Given the description of an element on the screen output the (x, y) to click on. 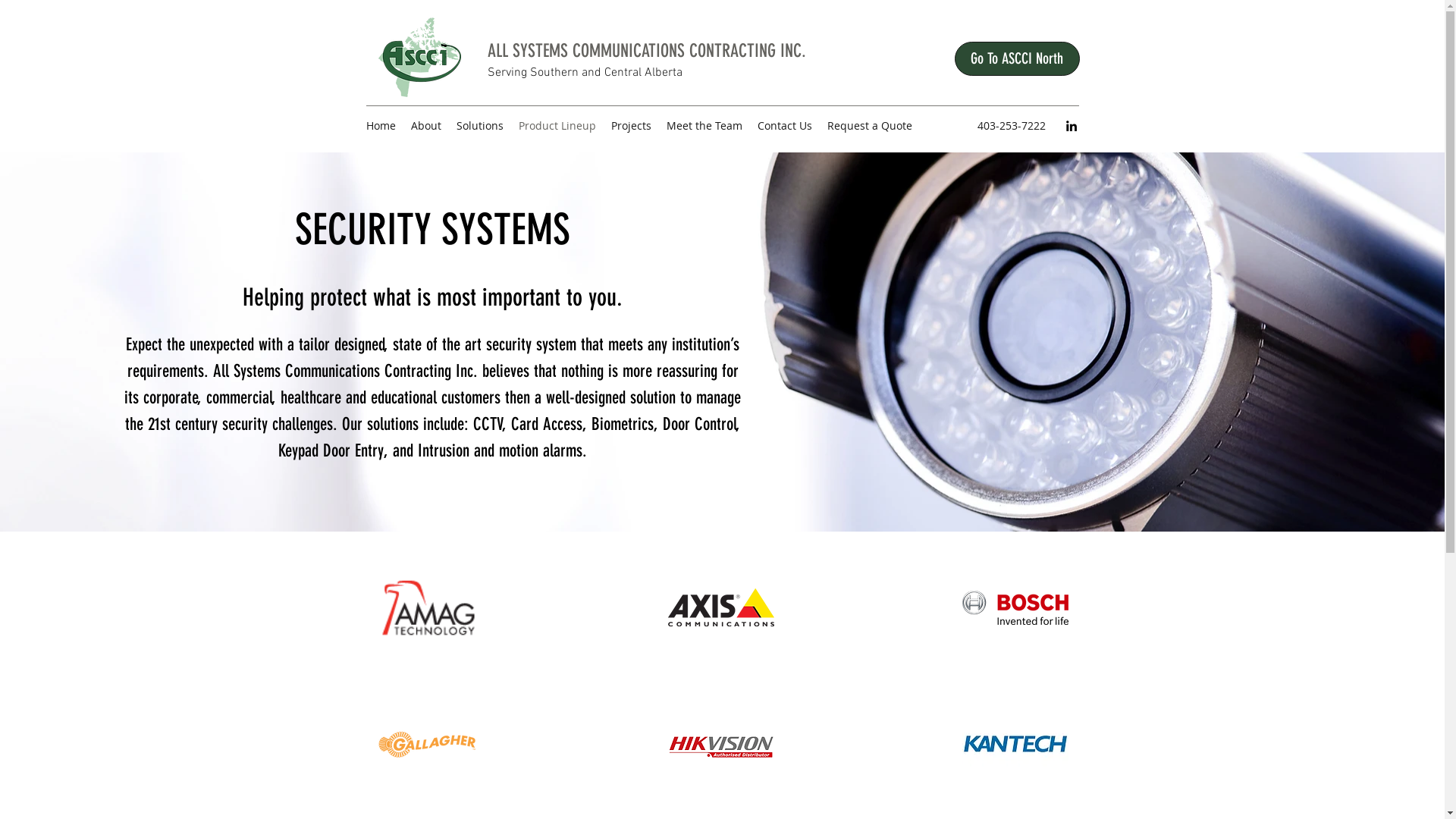
Solutions Element type: text (479, 125)
About Element type: text (425, 125)
Product Lineup Element type: text (557, 125)
Go To ASCCI North Element type: text (1016, 58)
Request a Quote Element type: text (869, 125)
Home Element type: text (379, 125)
Meet the Team Element type: text (703, 125)
Projects Element type: text (630, 125)
Contact Us Element type: text (784, 125)
